Given the description of an element on the screen output the (x, y) to click on. 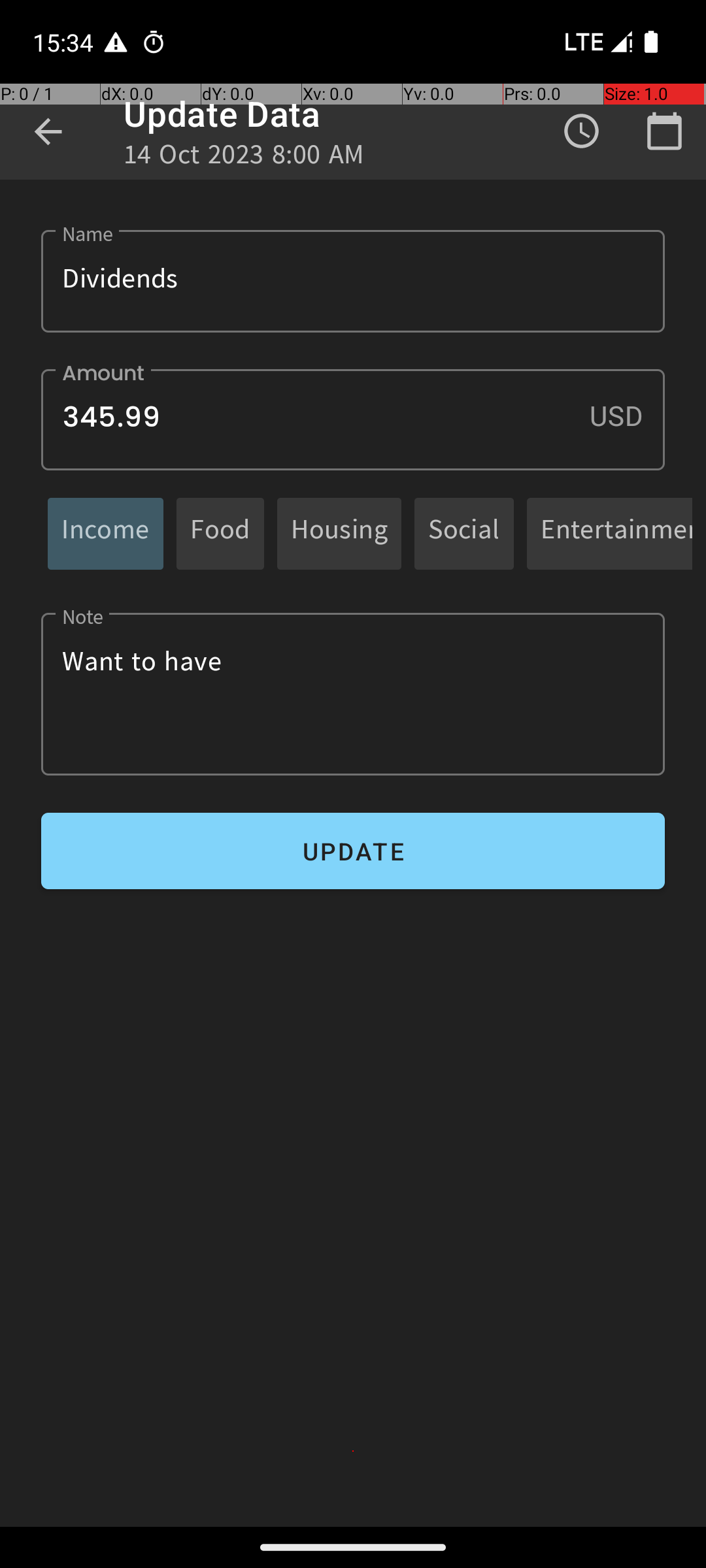
Update Data Element type: android.widget.TextView (221, 113)
14 Oct 2023 8:00 AM Element type: android.widget.TextView (243, 157)
Dividends Element type: android.widget.EditText (352, 280)
345.99 Element type: android.widget.EditText (352, 419)
Want to have Element type: android.widget.EditText (352, 693)
UPDATE Element type: android.widget.Button (352, 850)
